Given the description of an element on the screen output the (x, y) to click on. 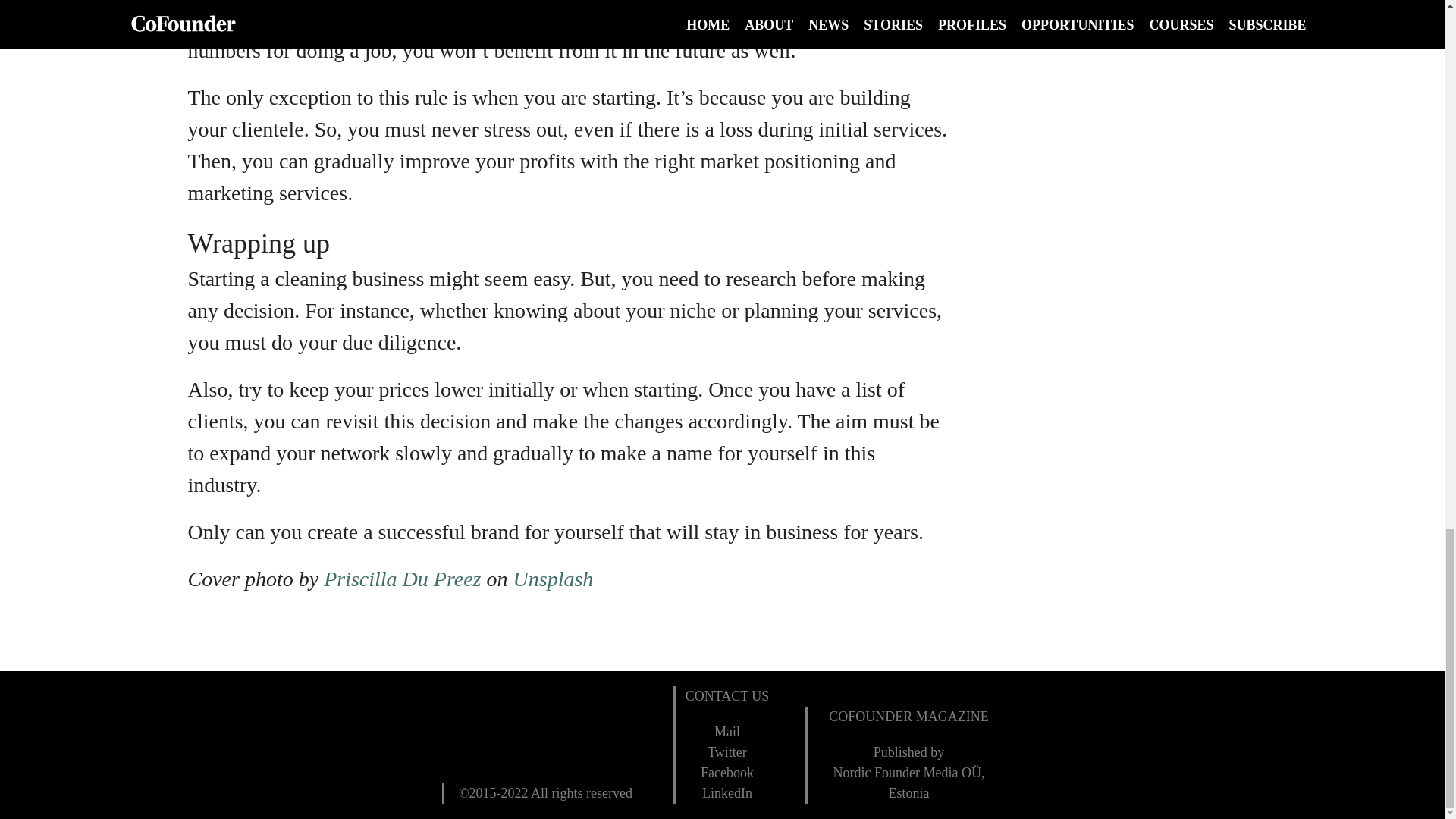
Priscilla Du Preez (401, 578)
Unsplash (553, 578)
